Given the description of an element on the screen output the (x, y) to click on. 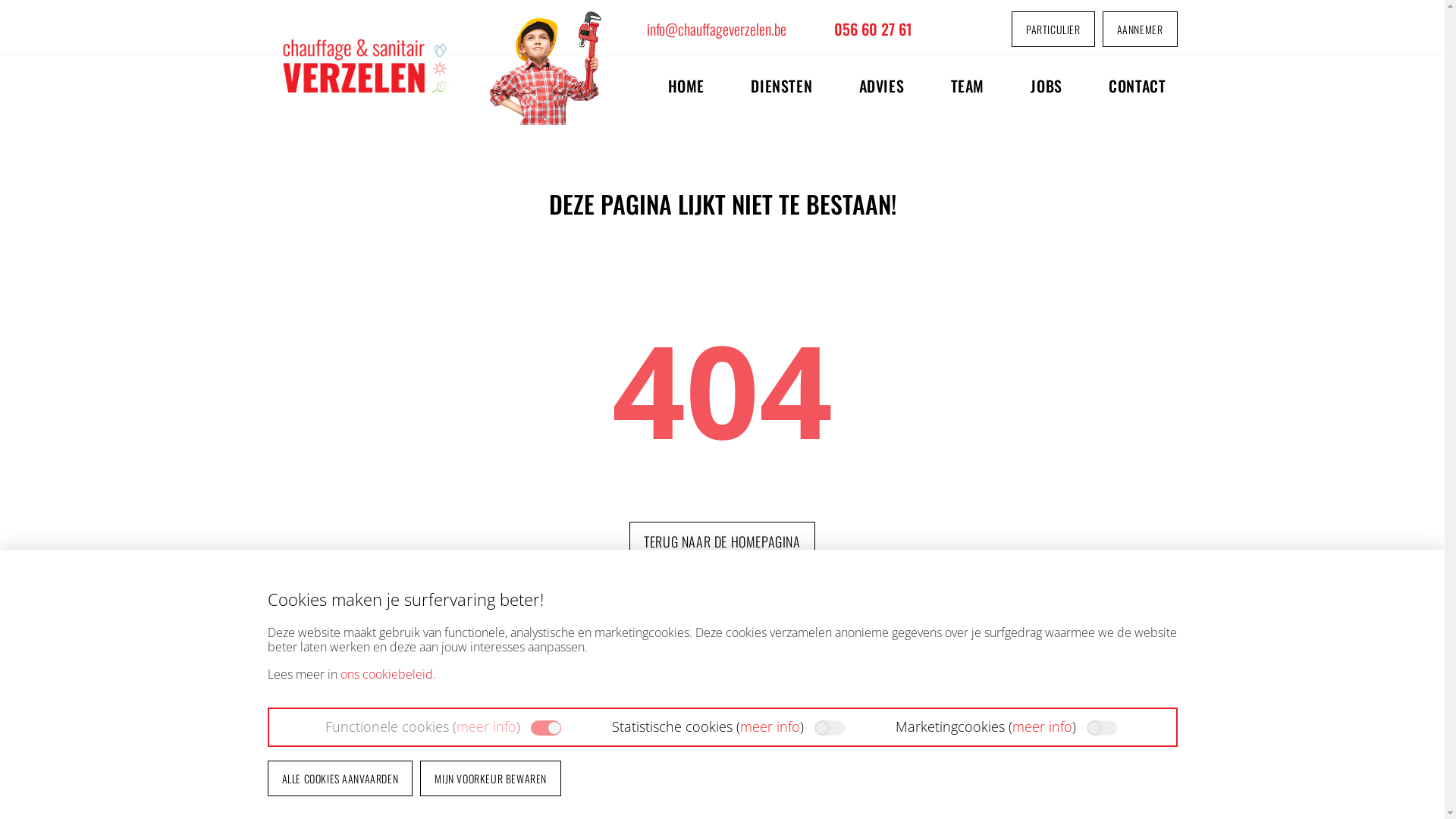
info@chauffageverzelen.be Element type: text (715, 28)
MIJN VOORKEUR BEWAREN Element type: text (490, 778)
CONTACT Element type: text (1131, 85)
Privacybeleid Element type: text (904, 693)
ADVIES Element type: text (881, 85)
ALLE COOKIES AANVAARDEN Element type: text (339, 778)
056 60 27 61 Element type: text (873, 28)
JOBS Element type: text (1045, 85)
meer info Element type: text (1042, 726)
Heirweg 175
8710 Wielsbeke Element type: text (310, 742)
AANNEMER Element type: text (1139, 29)
TEAM Element type: text (967, 85)
PARTICULIER Element type: text (1053, 29)
Disclaimer Element type: text (909, 677)
meer info Element type: text (770, 726)
Cookiebeleid Element type: text (905, 708)
DIENSTEN Element type: text (781, 85)
TERUG NAAR DE HOMEPAGINA Element type: text (721, 541)
info@chauffageverzelen.be Element type: text (432, 733)
056 60 27 61 Element type: text (446, 764)
ARTisteeq Element type: text (904, 738)
ons cookiebeleid. Element type: text (387, 673)
meer info Element type: text (486, 726)
HOME Element type: text (686, 85)
Algemene voorwaarden Element type: text (881, 723)
